Given the description of an element on the screen output the (x, y) to click on. 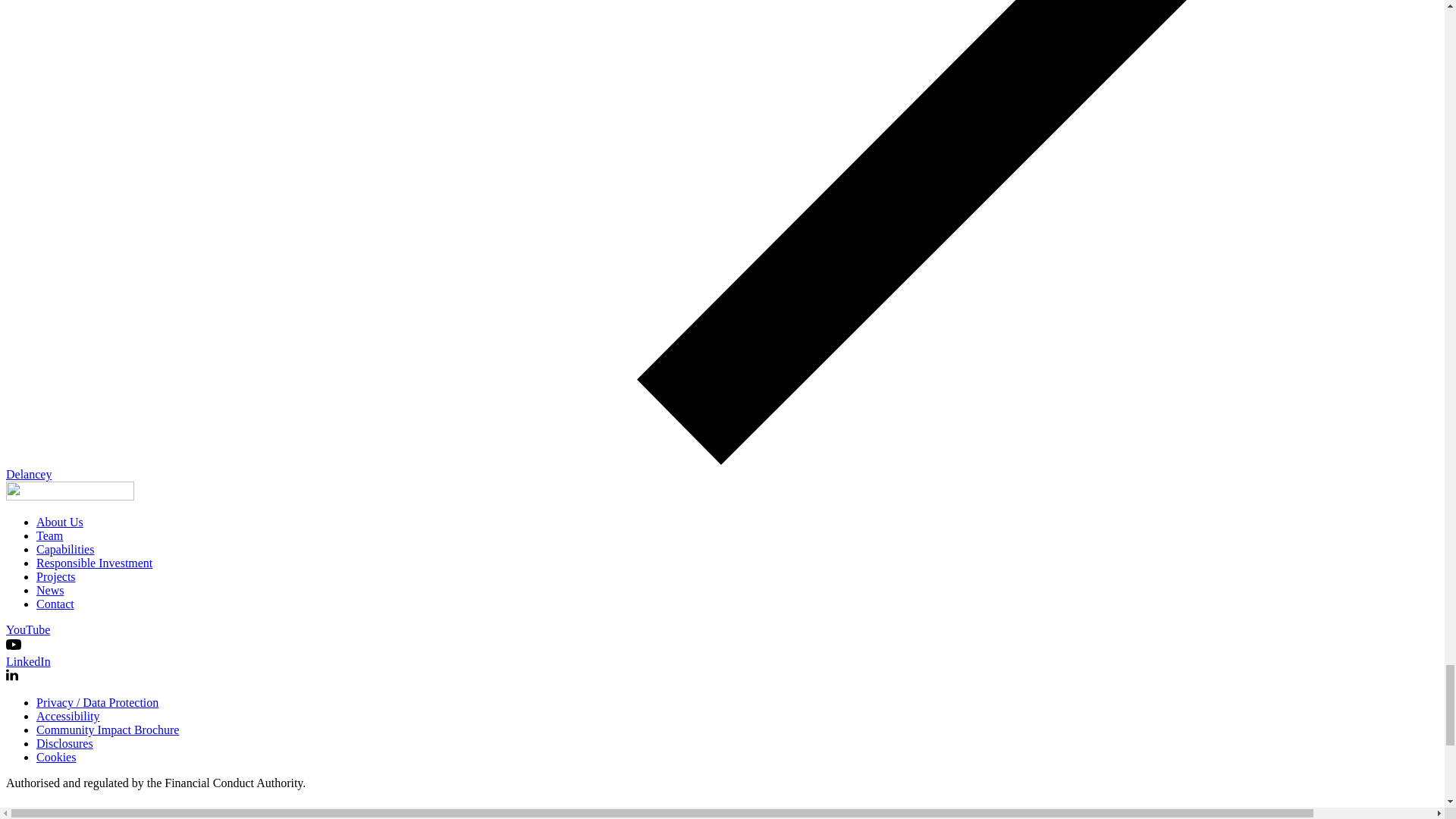
Delancey (721, 484)
LinkedIn (721, 675)
News (50, 590)
Projects (55, 576)
Community Impact Brochure (107, 729)
About Us (59, 521)
Accessibility (68, 716)
Responsible Investment (94, 562)
YouTube (721, 638)
Capabilities (65, 549)
Team (49, 535)
Disclosures (64, 743)
Cookies (55, 757)
Contact (55, 603)
